Given the description of an element on the screen output the (x, y) to click on. 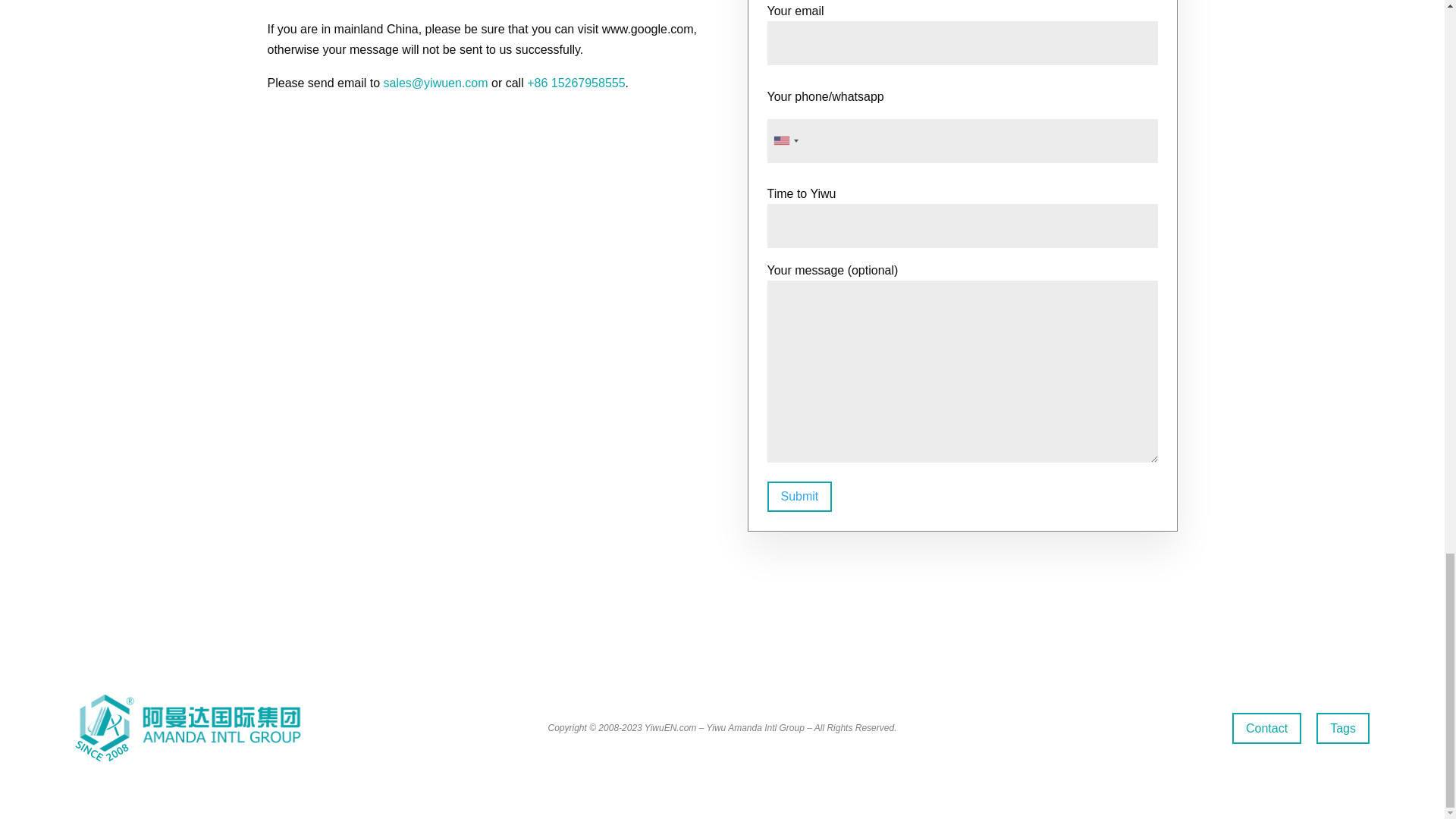
We are AMANDA INTL GROUP (188, 728)
